Given the description of an element on the screen output the (x, y) to click on. 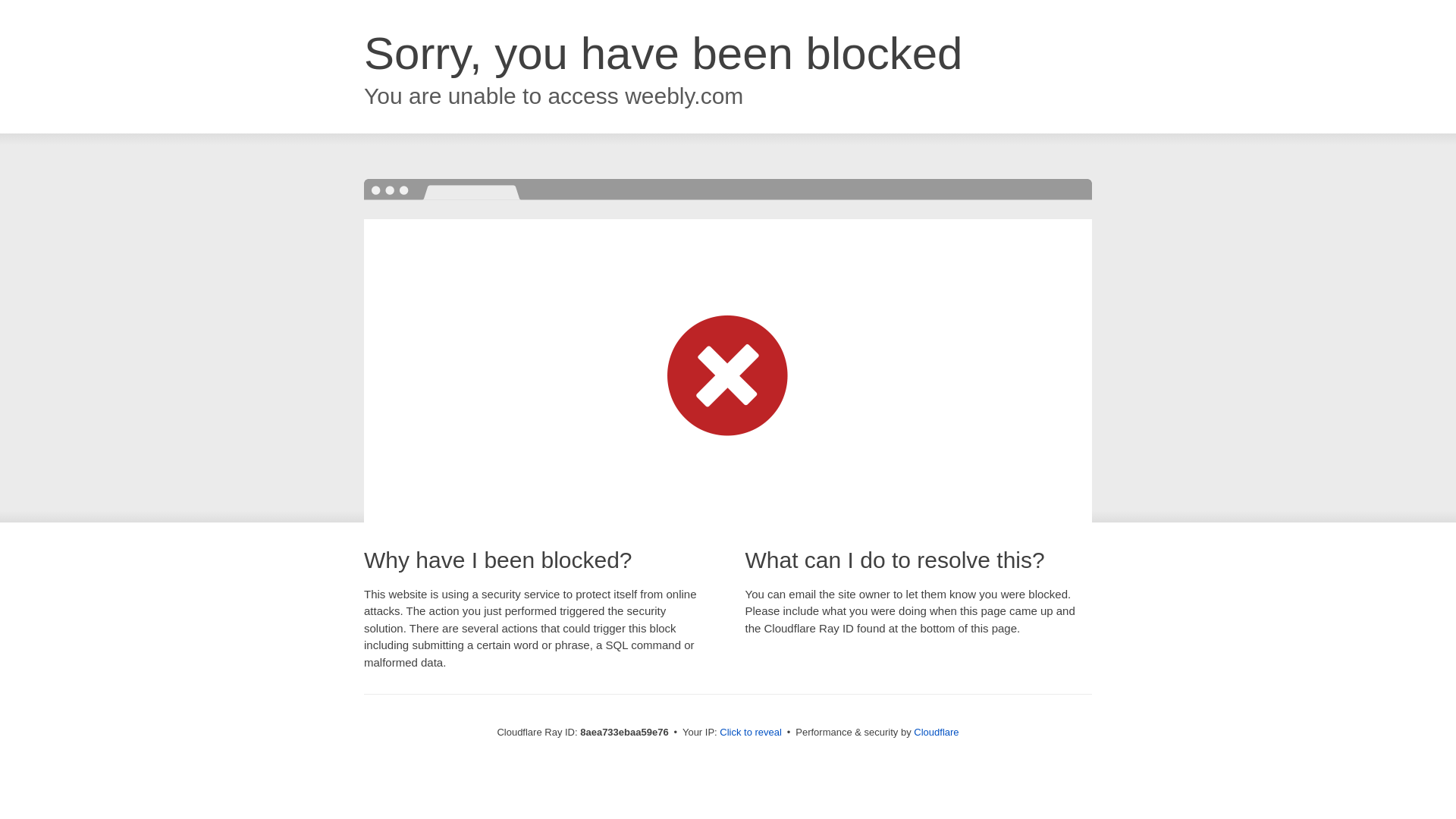
Cloudflare (936, 731)
Click to reveal (750, 732)
